Given the description of an element on the screen output the (x, y) to click on. 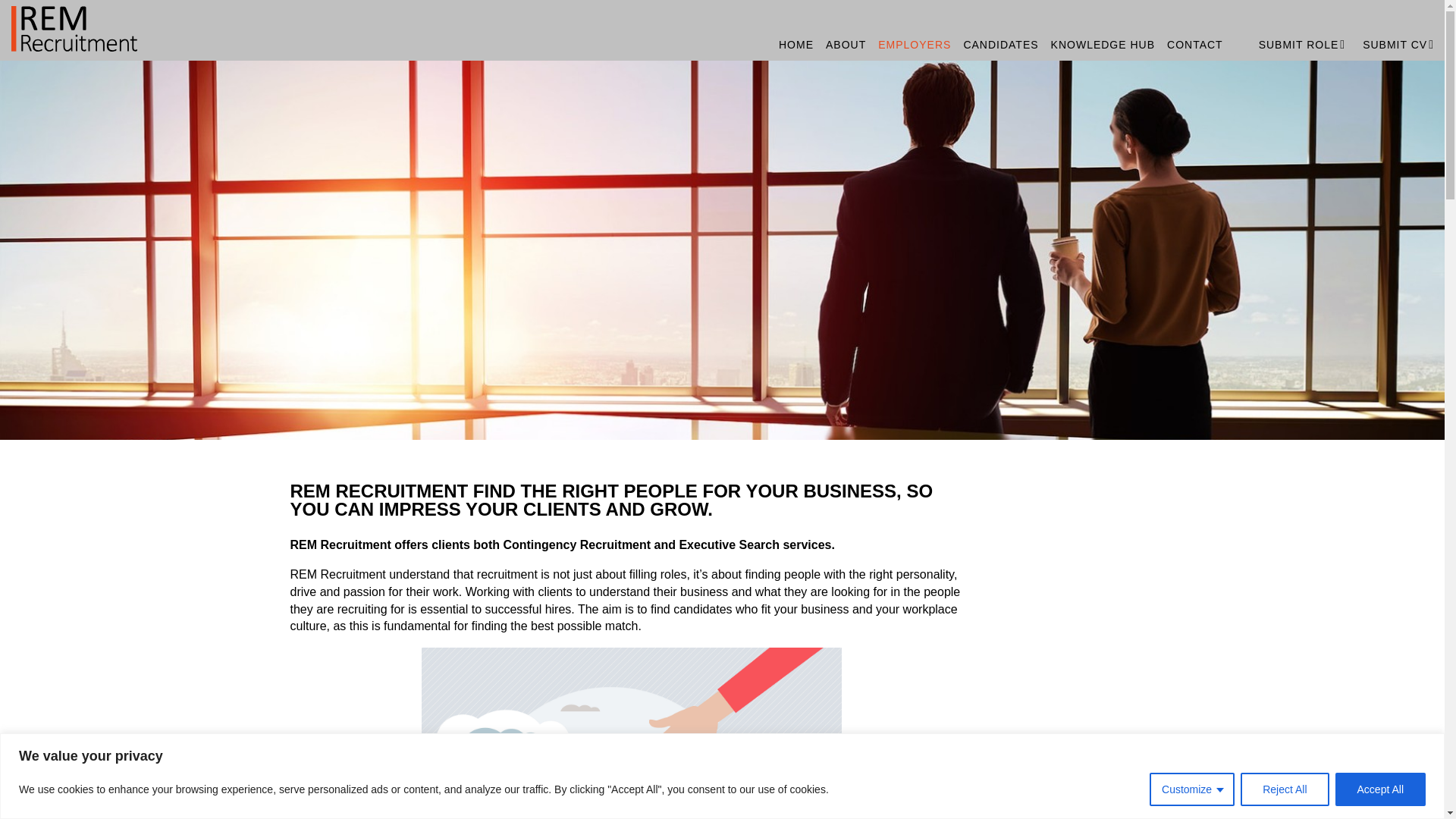
SUBMIT ROLE (1292, 28)
ABOUT (845, 44)
SUBMIT CV (1387, 28)
CONTACT (1194, 44)
CANDIDATES (999, 44)
KNOWLEDGE HUB (1102, 44)
EMPLOYERS (914, 44)
Accept All (1380, 788)
Submit CV (1387, 28)
REM Recruitment (180, 25)
Customize (1192, 788)
Submit role (1292, 28)
Reject All (1283, 788)
HOME (796, 44)
